Given the description of an element on the screen output the (x, y) to click on. 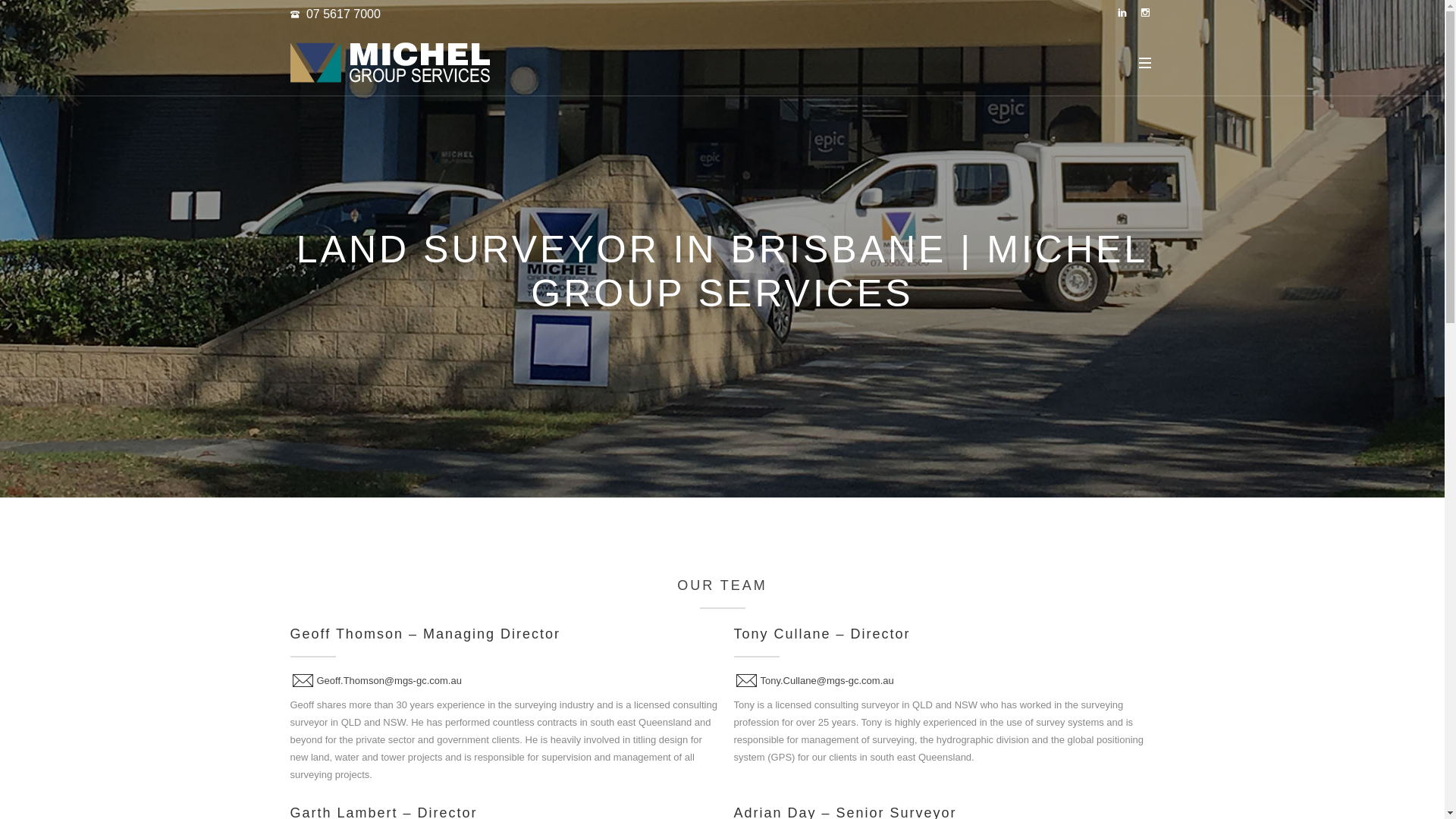
Geoff.Thomson@mgs-gc.com.au Element type: text (388, 680)
Professional Surveyors or Town Planner Brisbane | Gold Coast Element type: hover (389, 62)
Tony.Cullane@mgs-gc.com.au Element type: text (826, 680)
